Given the description of an element on the screen output the (x, y) to click on. 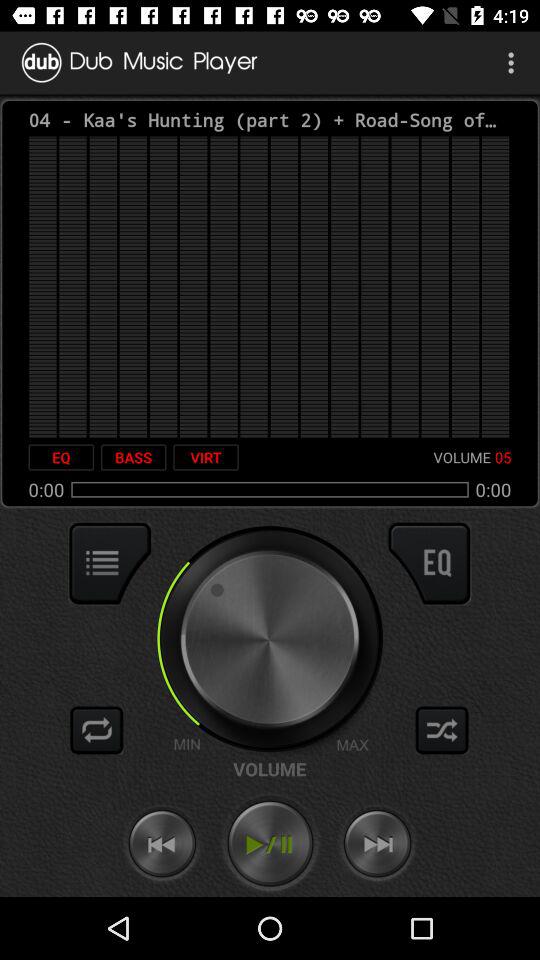
play/pause (269, 844)
